Given the description of an element on the screen output the (x, y) to click on. 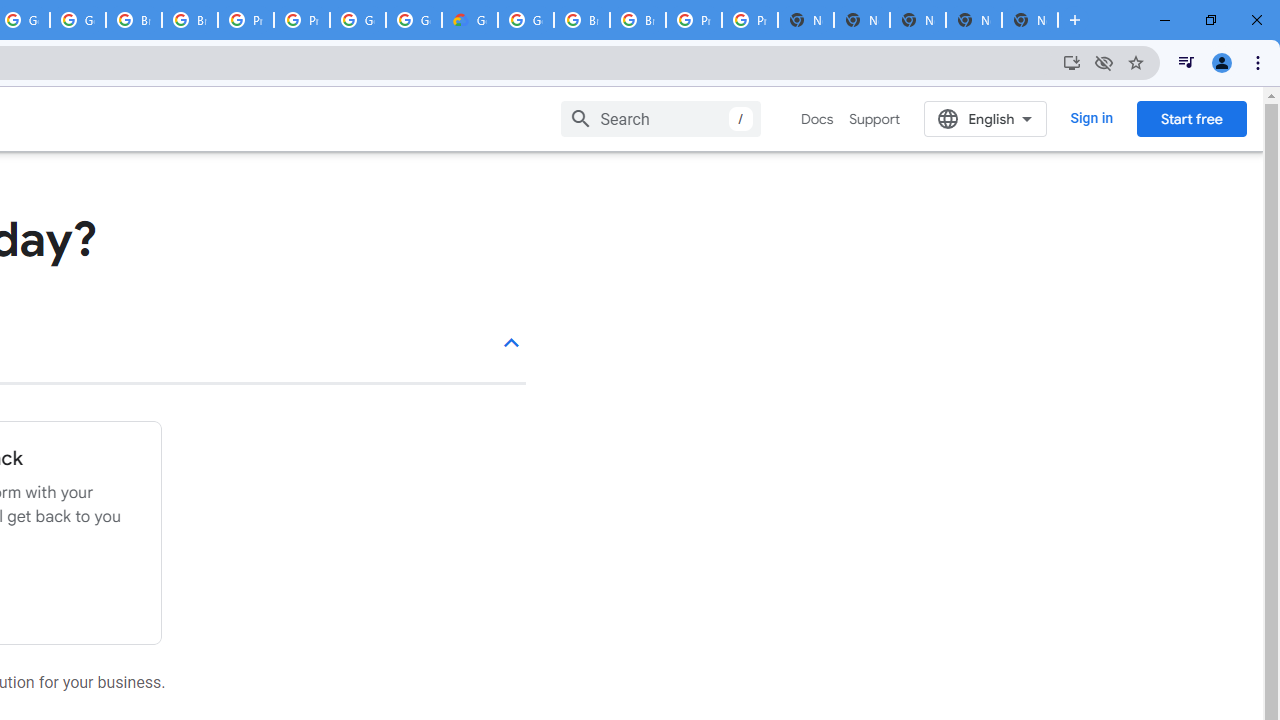
Search (660, 118)
Browse Chrome as a guest - Computer - Google Chrome Help (582, 20)
Browse Chrome as a guest - Computer - Google Chrome Help (637, 20)
Browse Chrome as a guest - Computer - Google Chrome Help (134, 20)
Control your music, videos, and more (1185, 62)
Start free (1191, 118)
English (985, 118)
Install Google Cloud (1071, 62)
Support (874, 119)
